Given the description of an element on the screen output the (x, y) to click on. 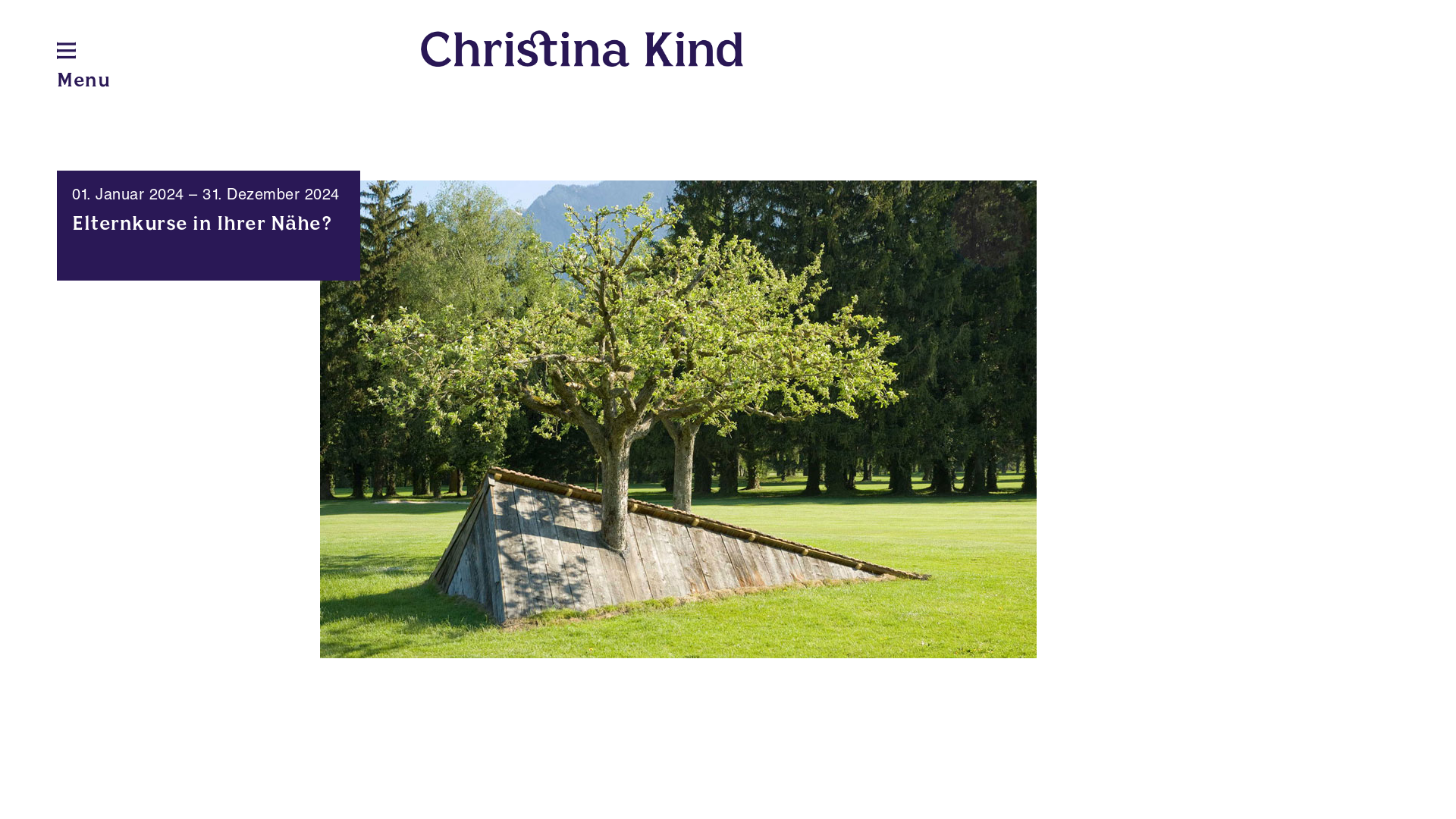
Menu Element type: text (82, 81)
